Given the description of an element on the screen output the (x, y) to click on. 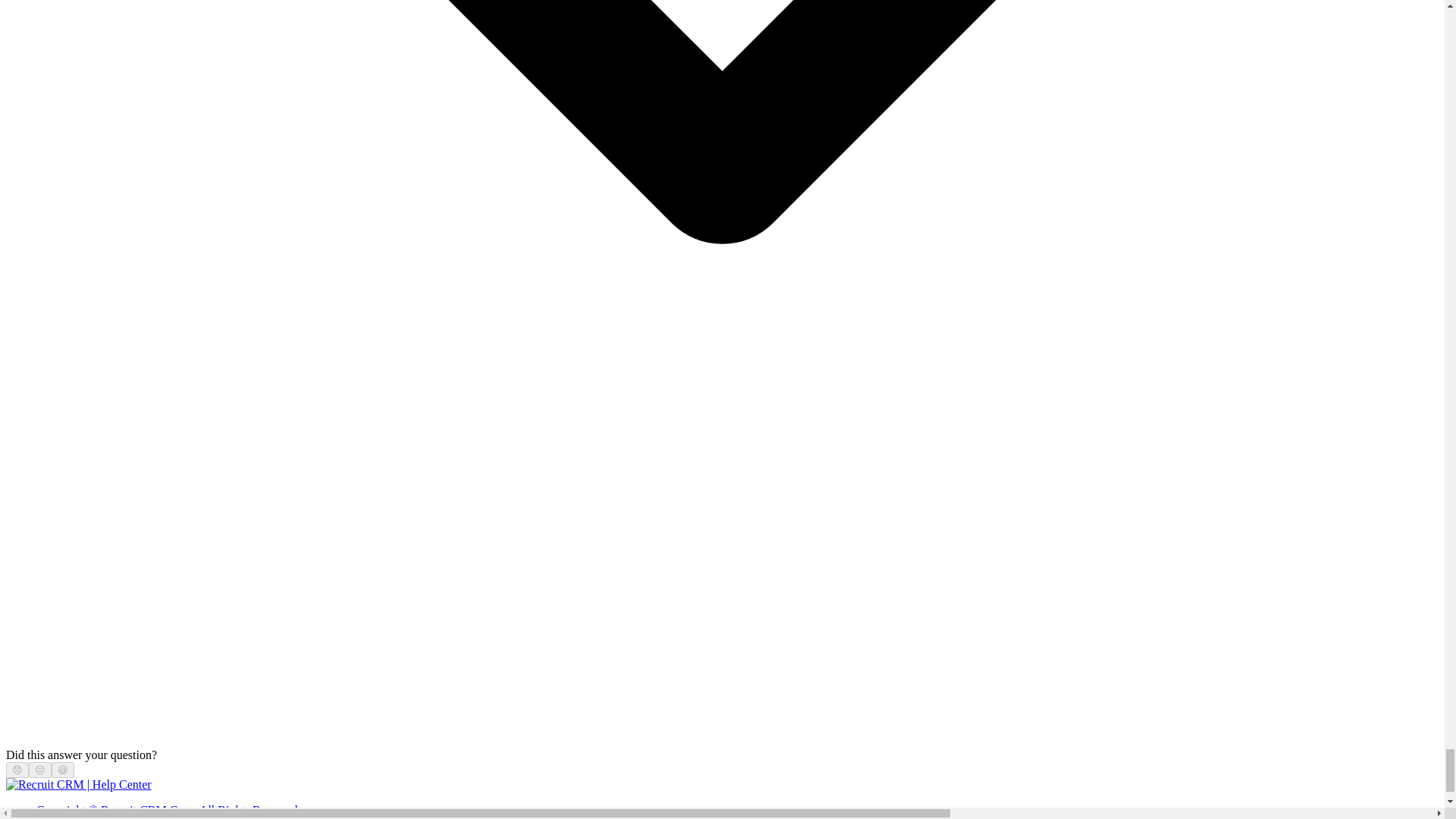
Neutral (39, 769)
Smiley (63, 769)
Disappointed (17, 769)
